Given the description of an element on the screen output the (x, y) to click on. 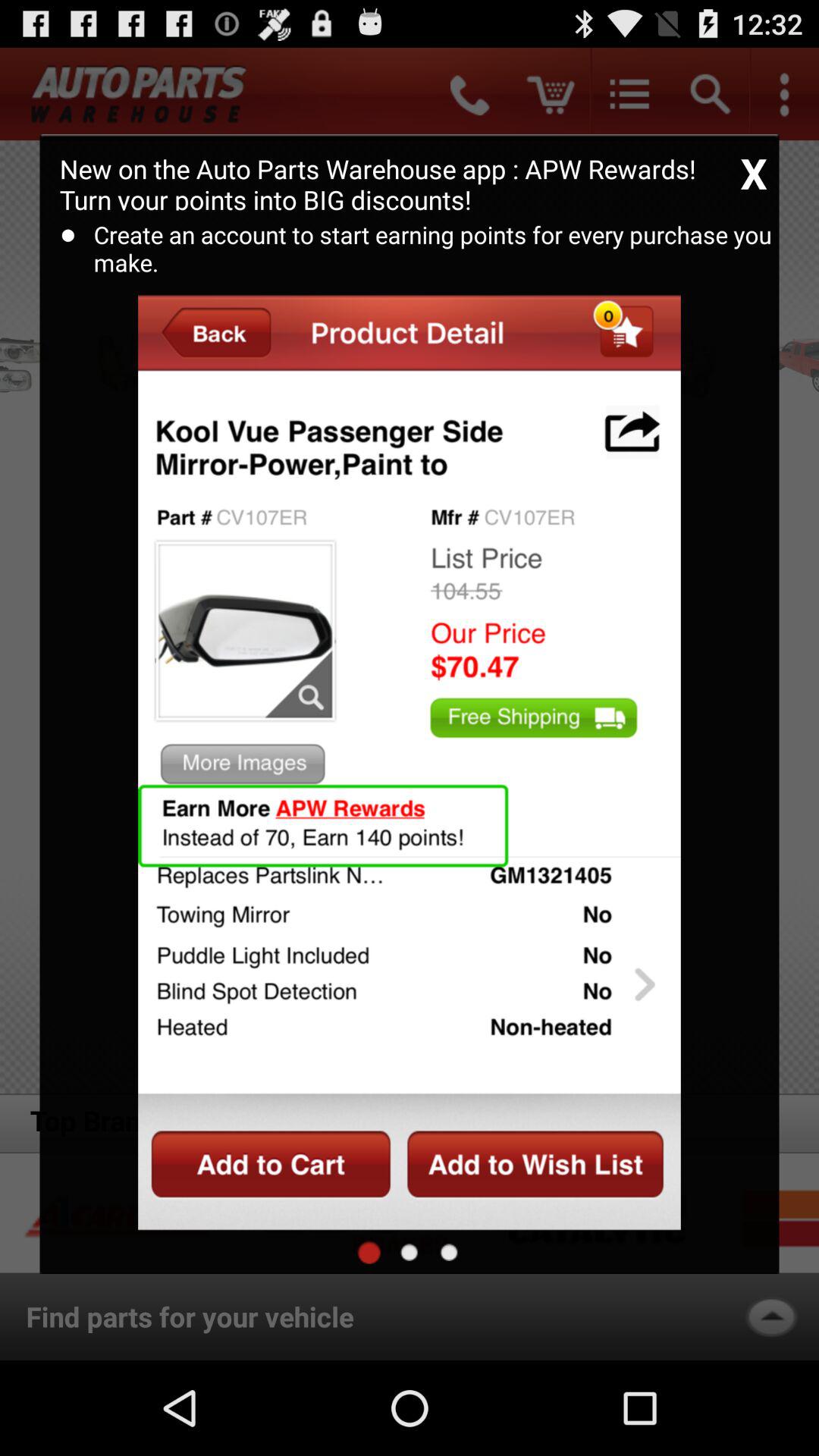
go to third picture (449, 1251)
